Given the description of an element on the screen output the (x, y) to click on. 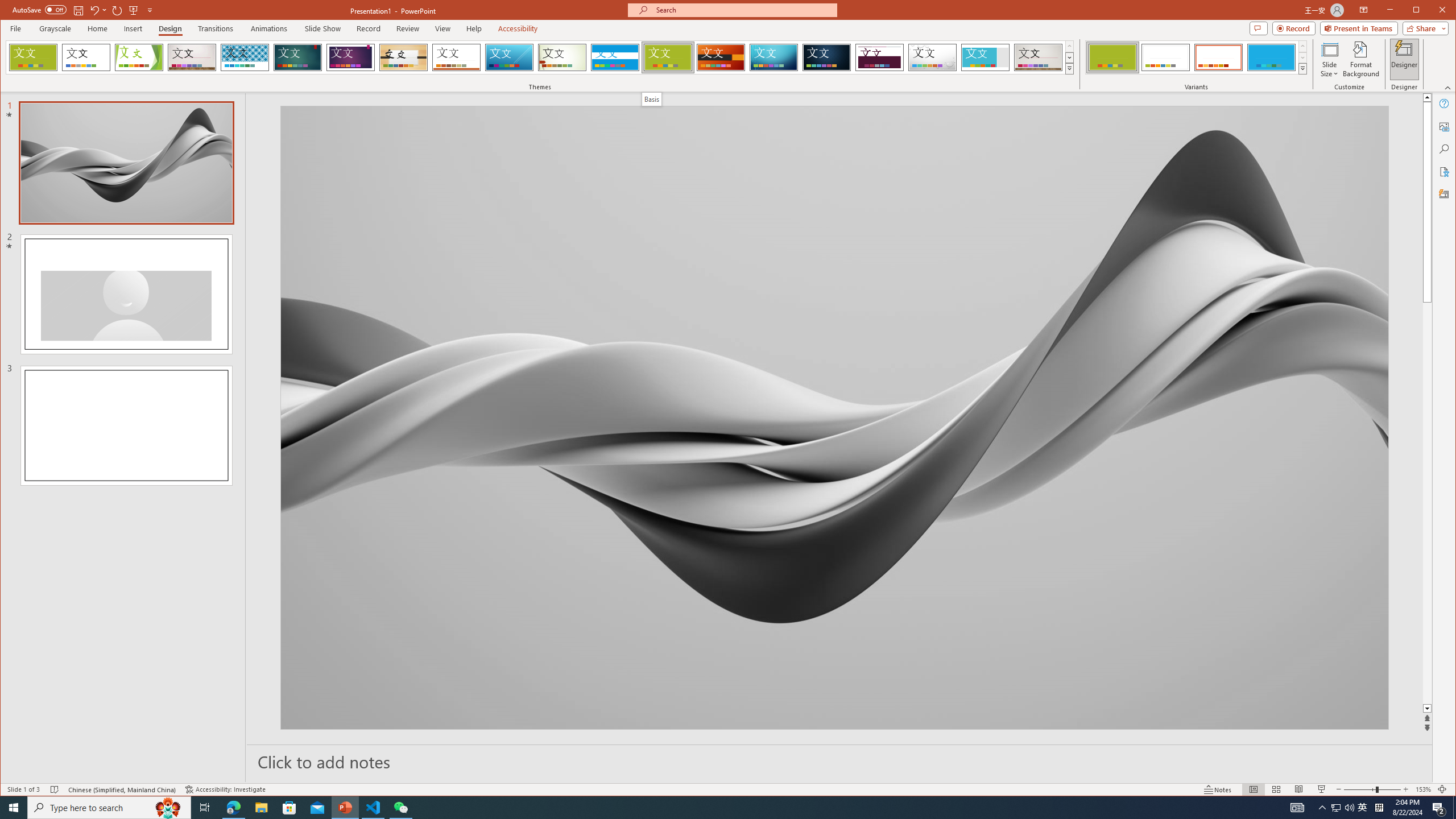
Organic (403, 57)
Basis Variant 4 (1270, 57)
